Given the description of an element on the screen output the (x, y) to click on. 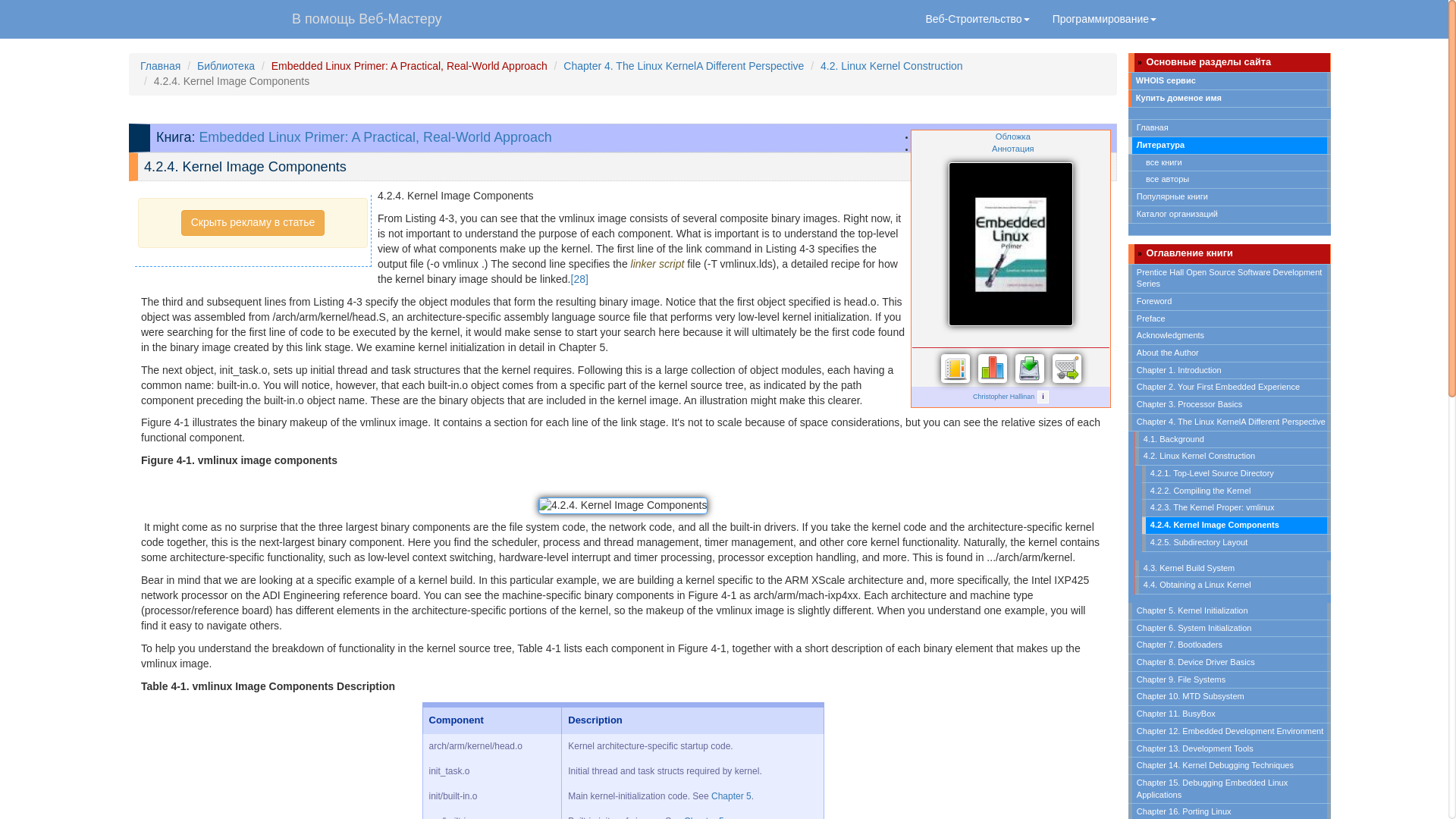
Chapter 5 (731, 796)
4.2. Linux Kernel Construction (891, 65)
Embedded Linux Primer: A Practical, Real-World Approach (408, 65)
Chapter 5 (703, 817)
Embedded Linux Primer: A Practical, Real-World Approach (374, 136)
Christopher Hallinan (1002, 396)
4.2.4. Kernel Image Components (622, 505)
Chapter 4. The Linux KernelA Different Perspective (683, 65)
